Given the description of an element on the screen output the (x, y) to click on. 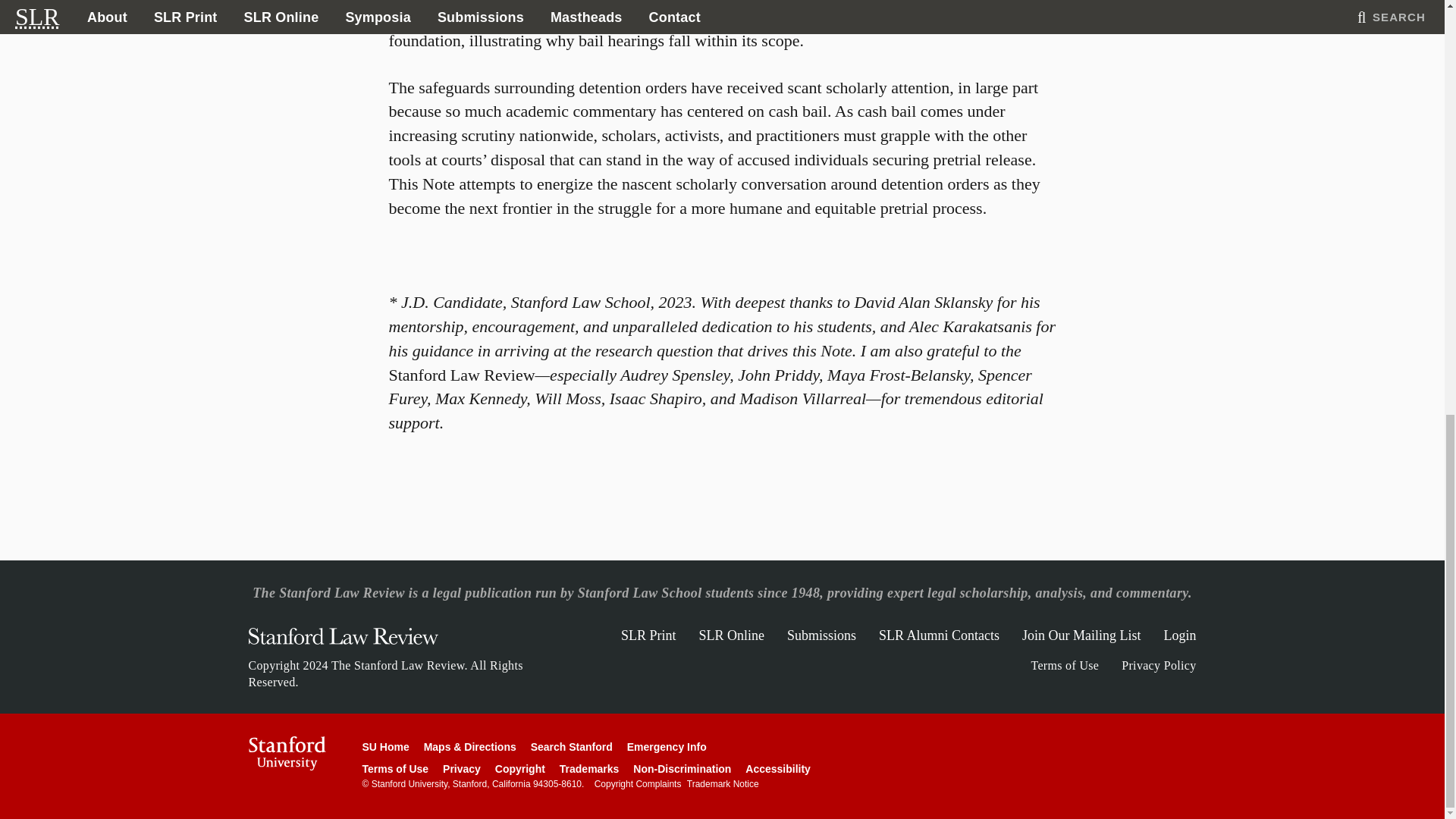
Terms of Use (395, 768)
Report web accessibility issues (777, 768)
Join Our Mailing List (1081, 635)
Privacy Policy (1158, 665)
SLR Print (649, 635)
SU Home (385, 746)
Submissions (821, 635)
Emergency Info (666, 746)
SLR Online (731, 635)
Search Stanford (571, 746)
Terms of Use (1064, 665)
Stanford University (287, 753)
Login (1179, 635)
SLR Alumni Contacts (938, 635)
Stanford Law Review (343, 640)
